Given the description of an element on the screen output the (x, y) to click on. 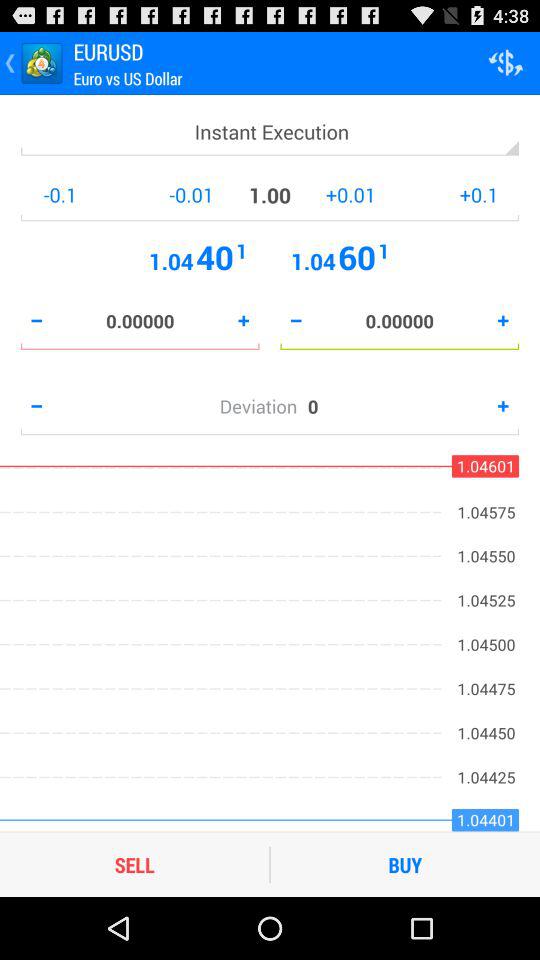
open buy item (405, 864)
